Given the description of an element on the screen output the (x, y) to click on. 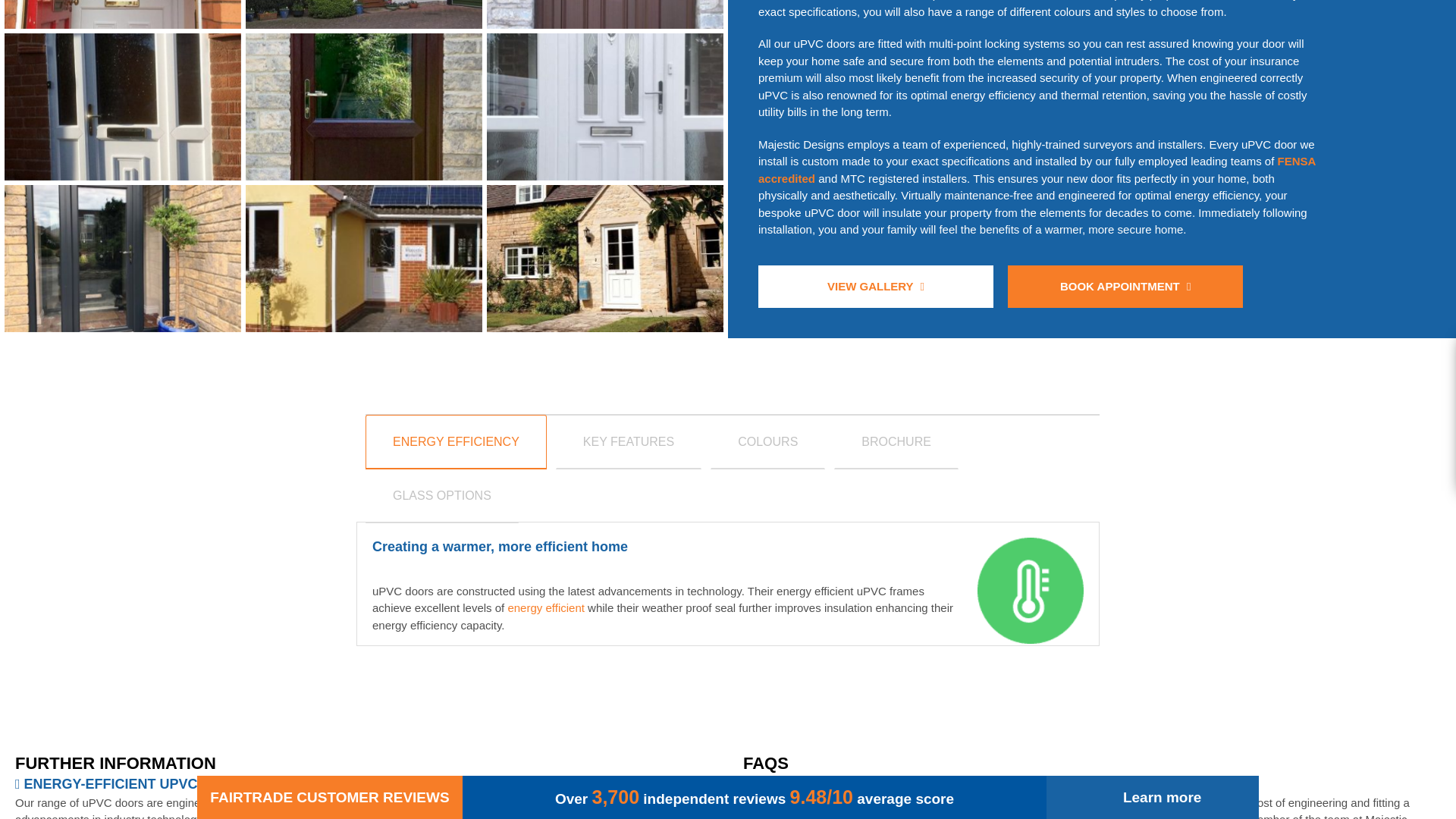
Book appointment (1125, 286)
View Gallery (875, 286)
